Given the description of an element on the screen output the (x, y) to click on. 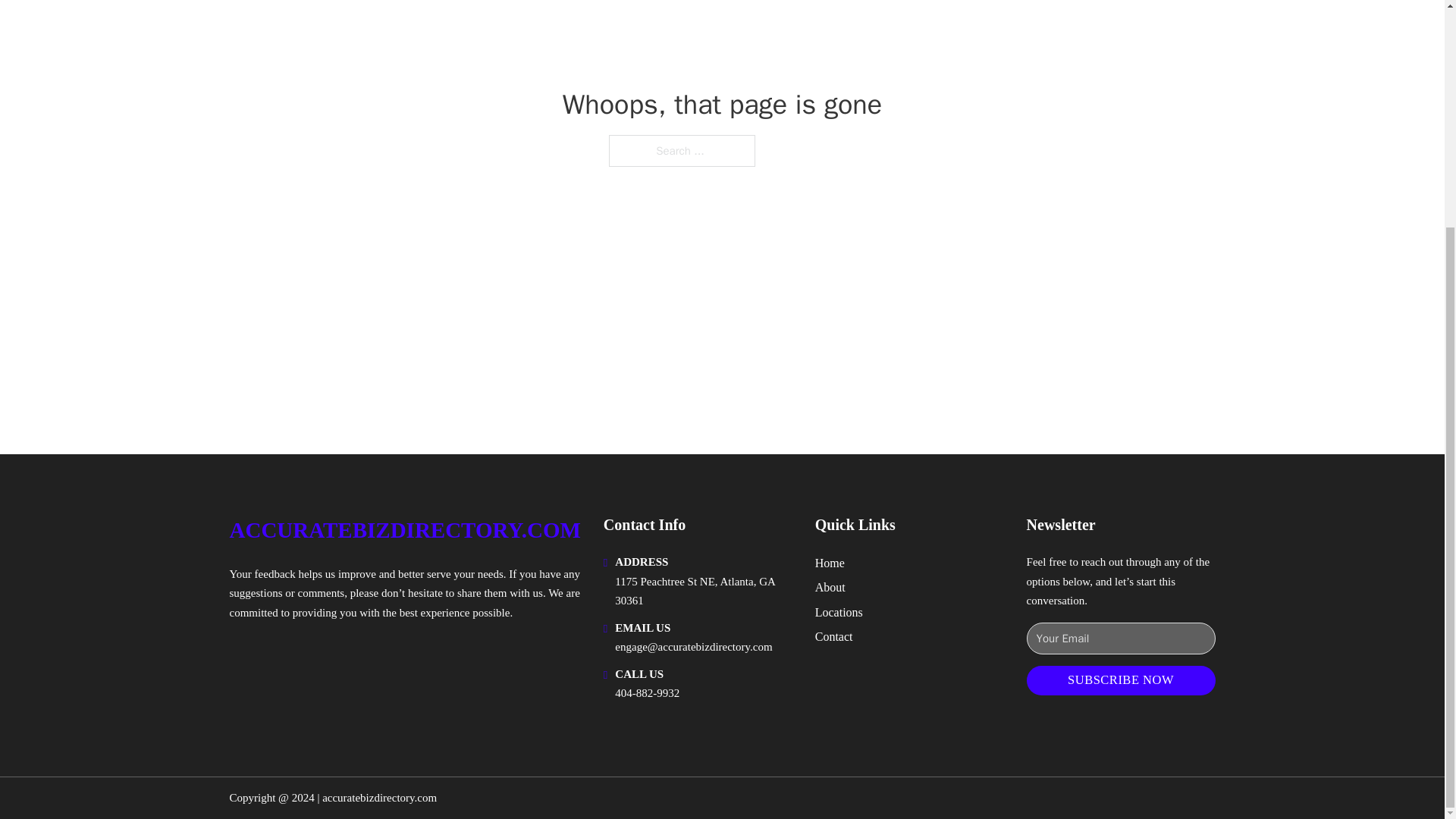
About (830, 587)
SUBSCRIBE NOW (1120, 680)
ACCURATEBIZDIRECTORY.COM (403, 529)
Home (829, 562)
Locations (839, 611)
Contact (834, 636)
404-882-9932 (646, 693)
